Given the description of an element on the screen output the (x, y) to click on. 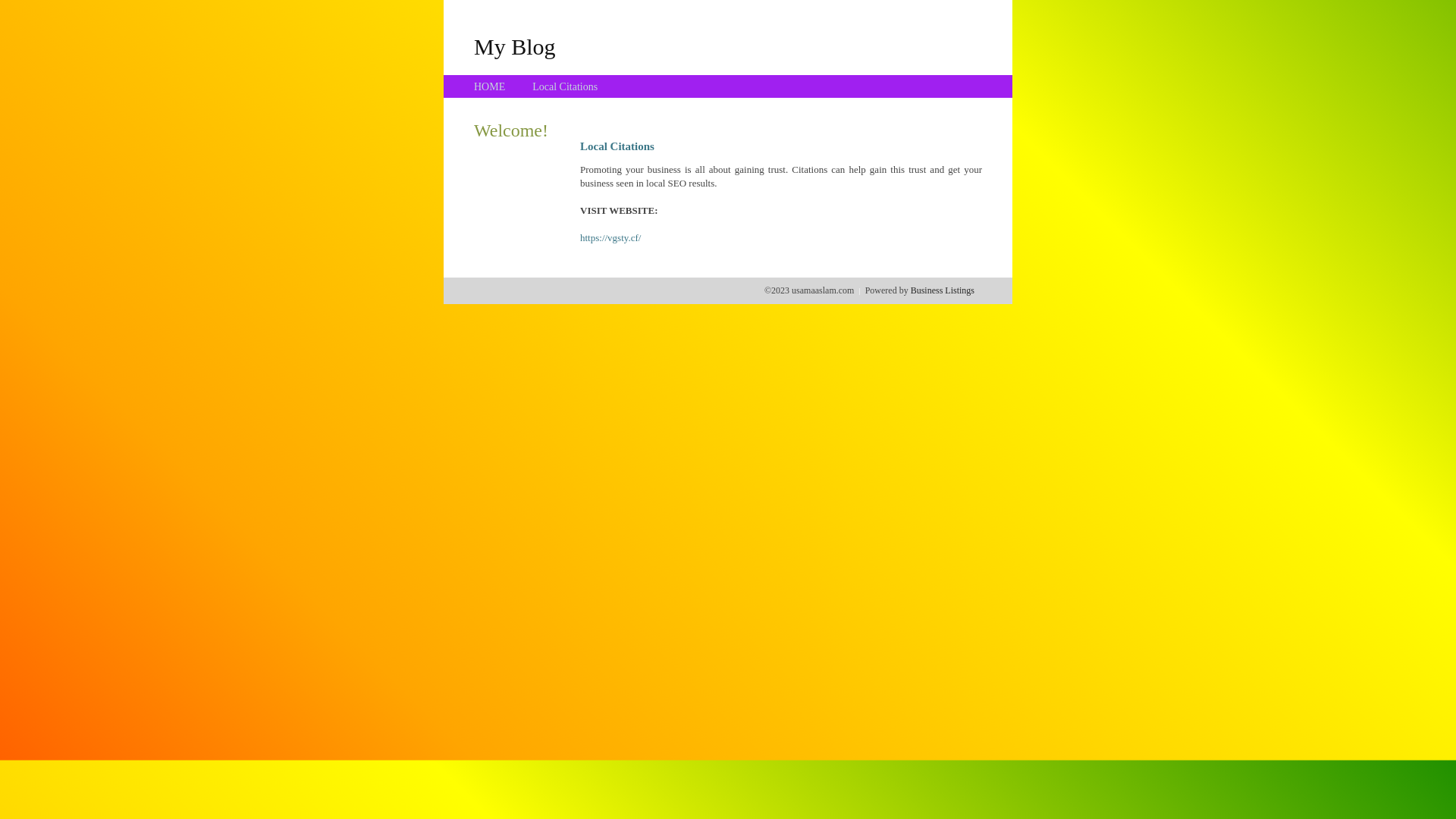
https://vgsty.cf/ Element type: text (610, 237)
Local Citations Element type: text (564, 86)
My Blog Element type: text (514, 46)
HOME Element type: text (489, 86)
Business Listings Element type: text (942, 290)
